Given the description of an element on the screen output the (x, y) to click on. 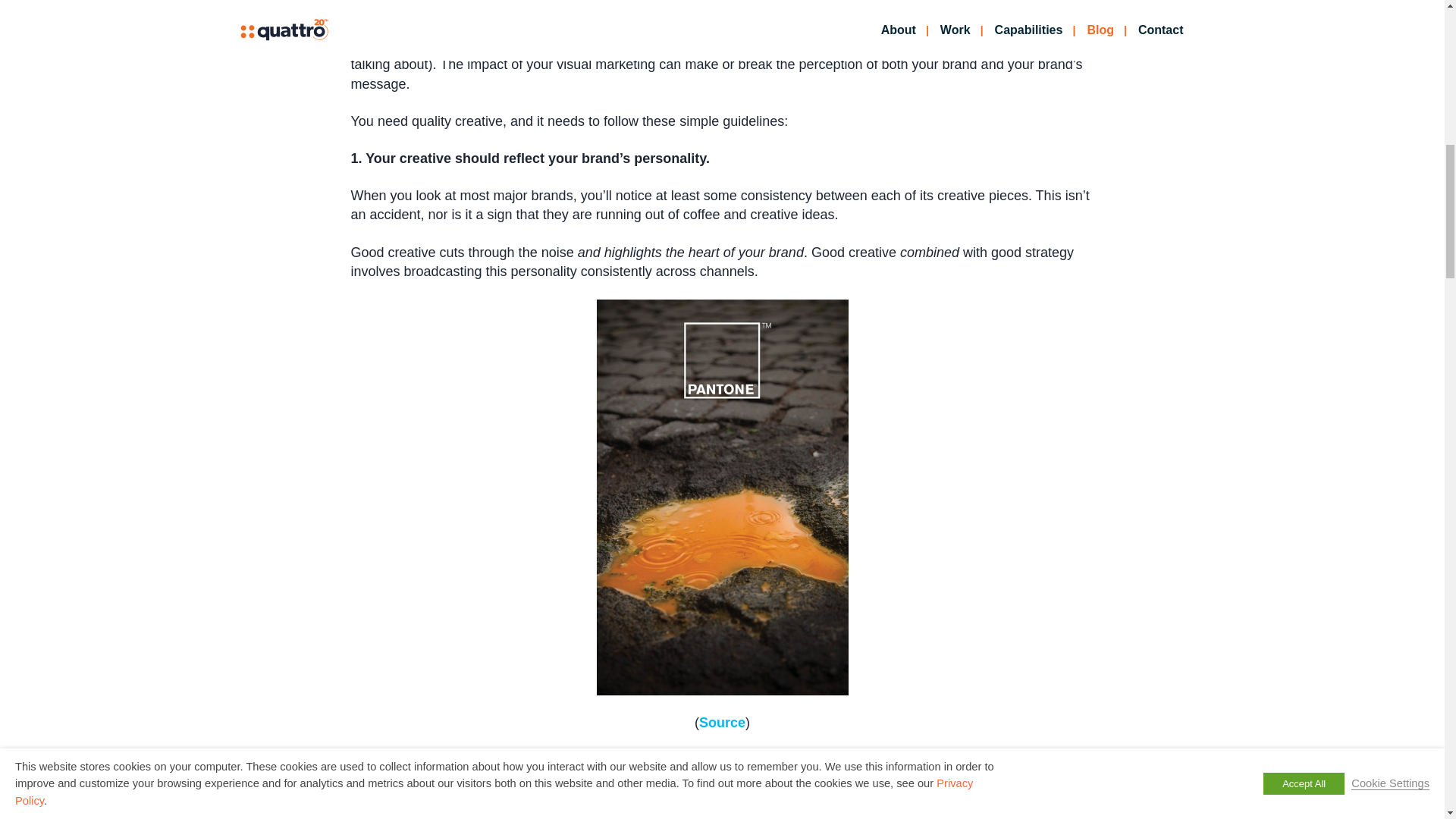
undeniably essential (775, 26)
Source (721, 722)
